Given the description of an element on the screen output the (x, y) to click on. 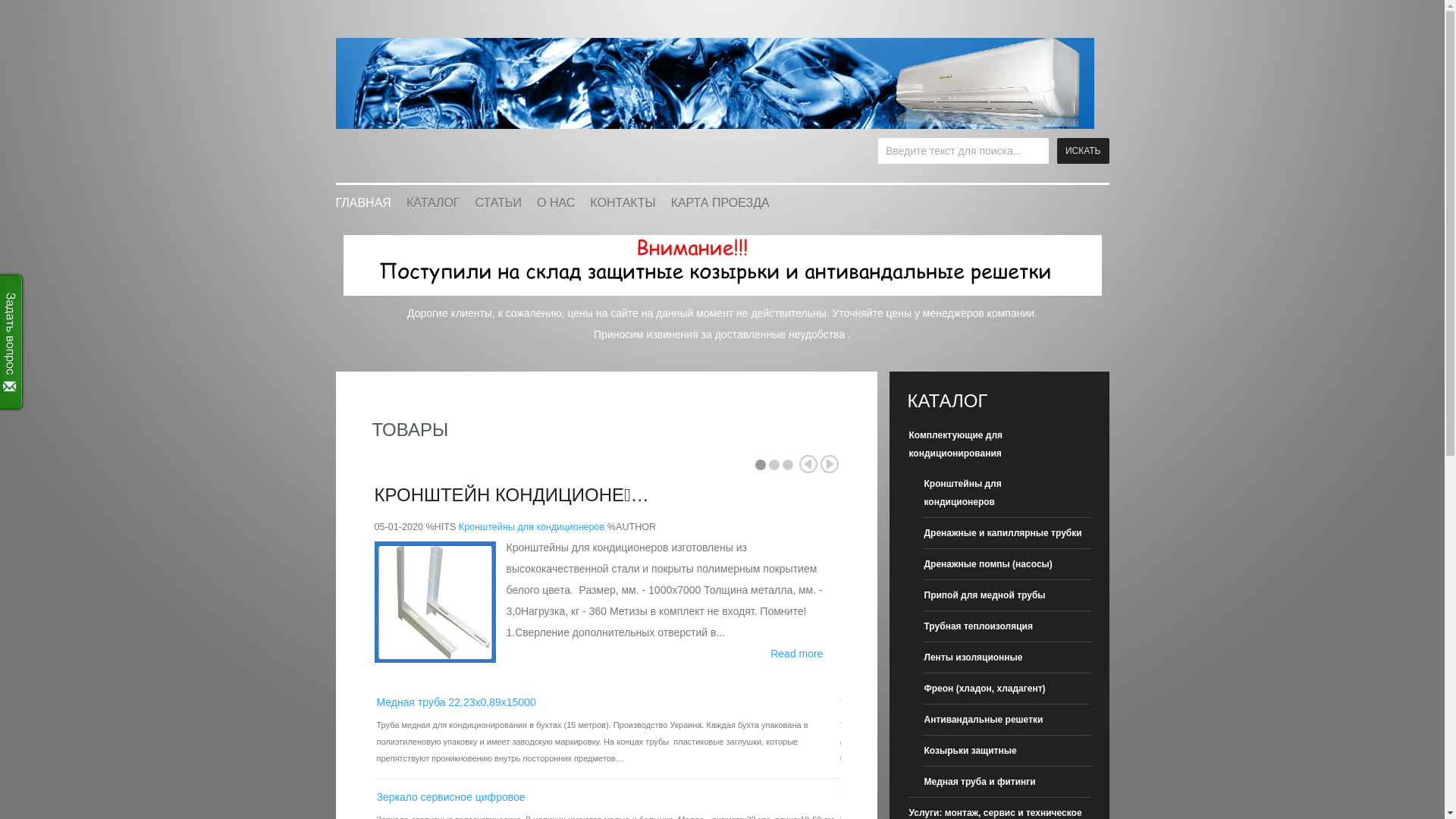
1 Element type: text (760, 464)
Next Element type: text (829, 464)
Read more Element type: text (796, 653)
3 Element type: text (787, 464)
Prev Element type: text (808, 464)
2 Element type: text (773, 464)
